Given the description of an element on the screen output the (x, y) to click on. 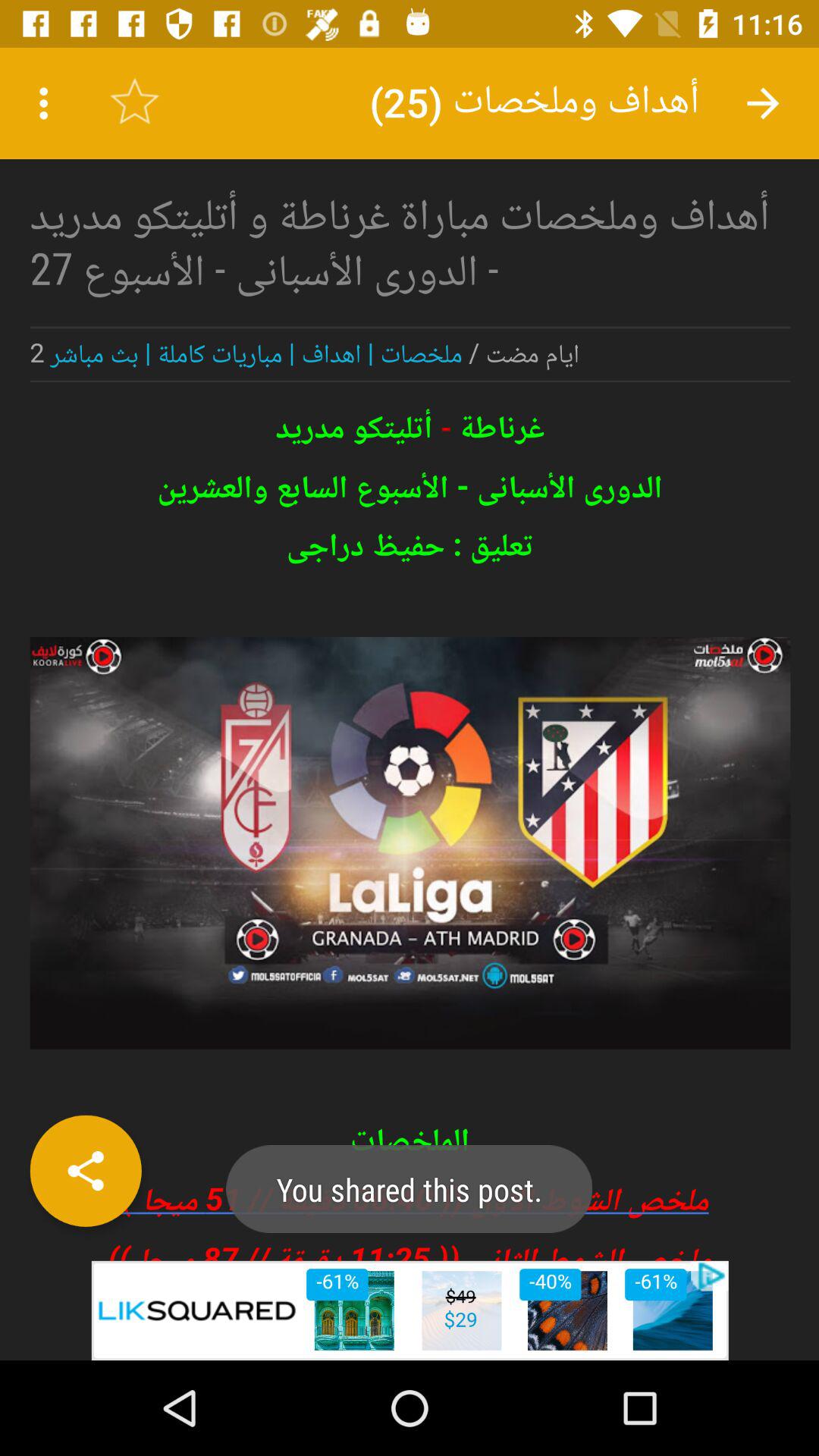
for advertisement (409, 653)
